Given the description of an element on the screen output the (x, y) to click on. 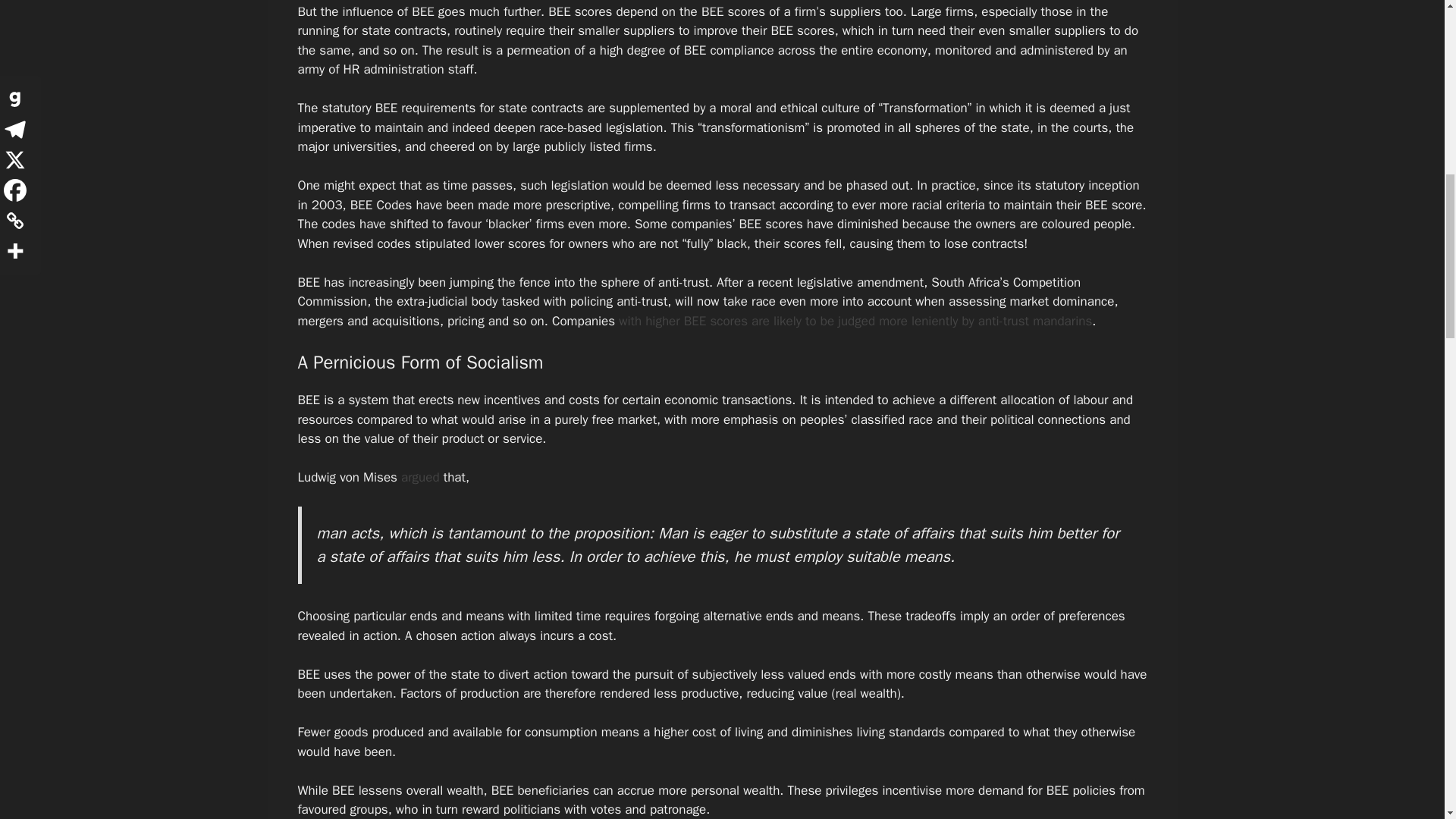
argued (420, 477)
